Given the description of an element on the screen output the (x, y) to click on. 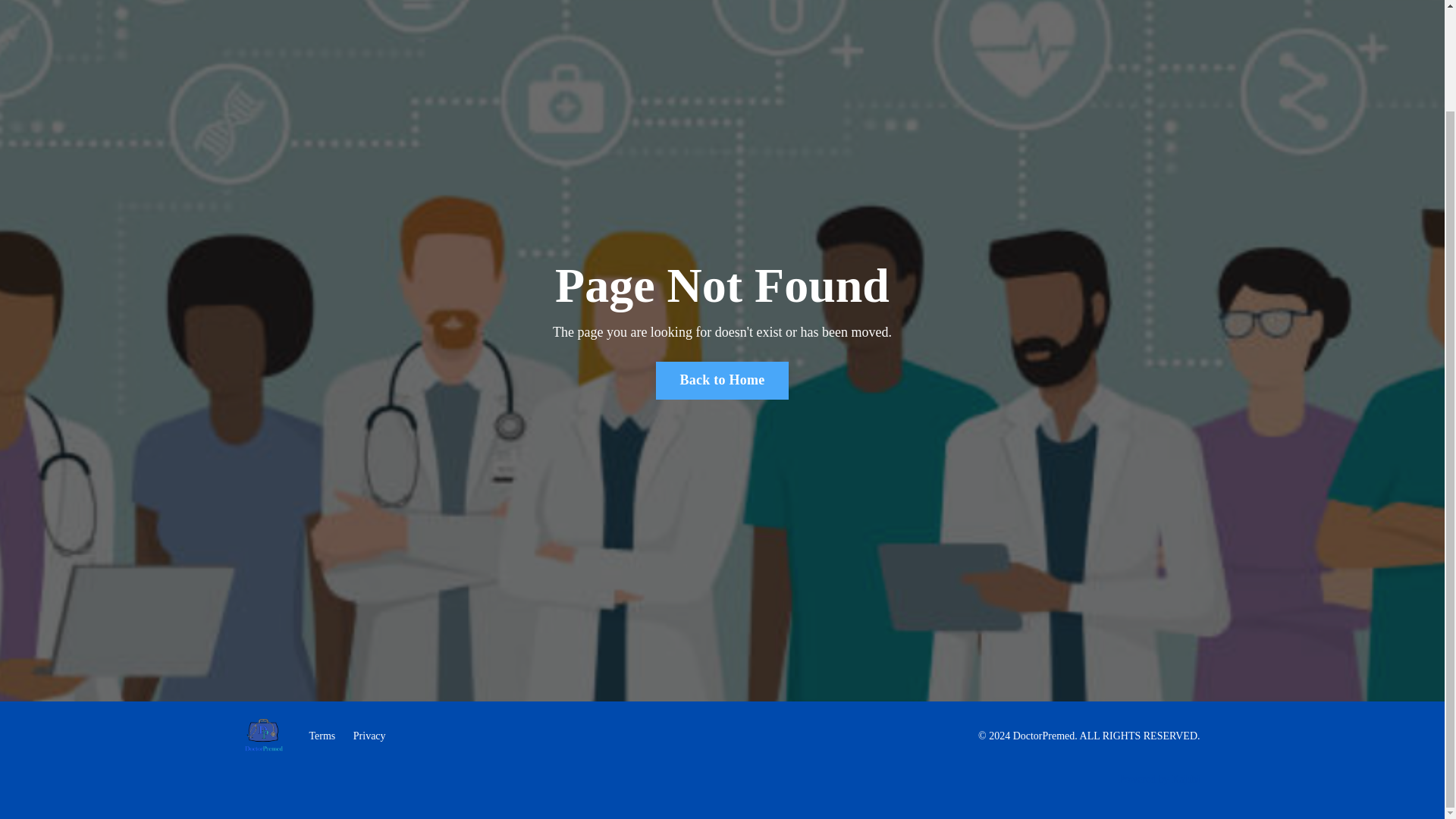
Terms (322, 736)
Back to Home (722, 380)
Privacy (369, 736)
Powered by Kajabi (1158, 778)
